Given the description of an element on the screen output the (x, y) to click on. 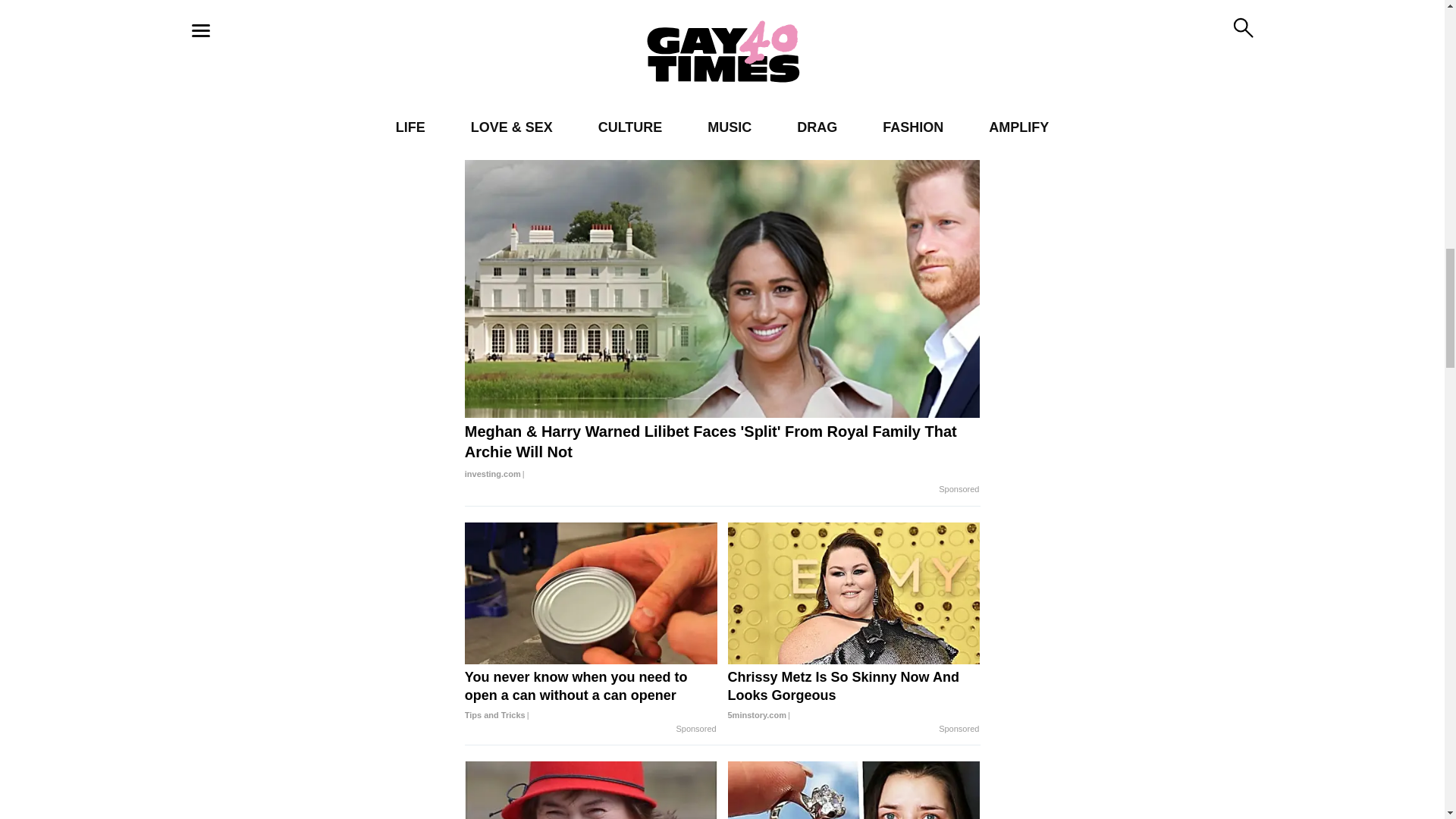
Chrissy Metz Is So Skinny Now And Looks Gorgeous (853, 695)
